Given the description of an element on the screen output the (x, y) to click on. 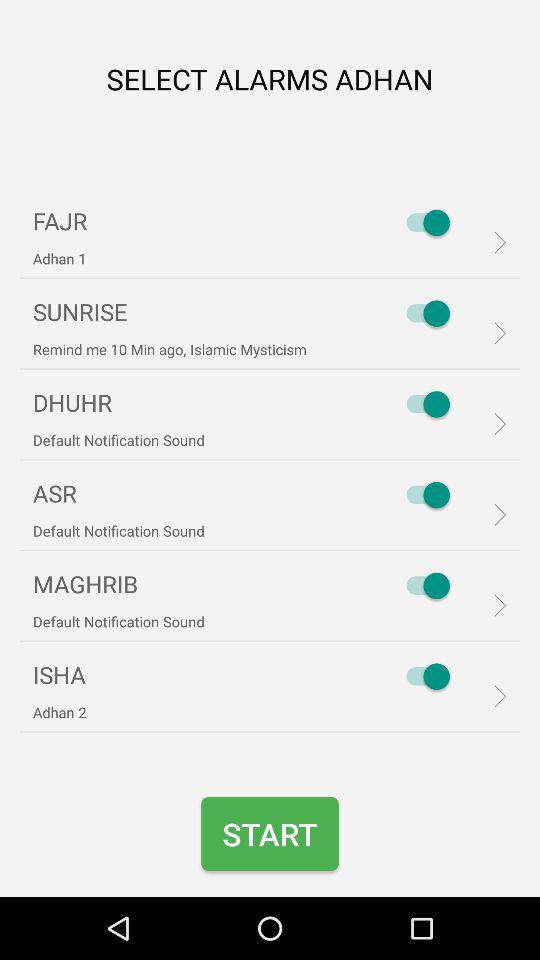
flip to start (269, 833)
